Given the description of an element on the screen output the (x, y) to click on. 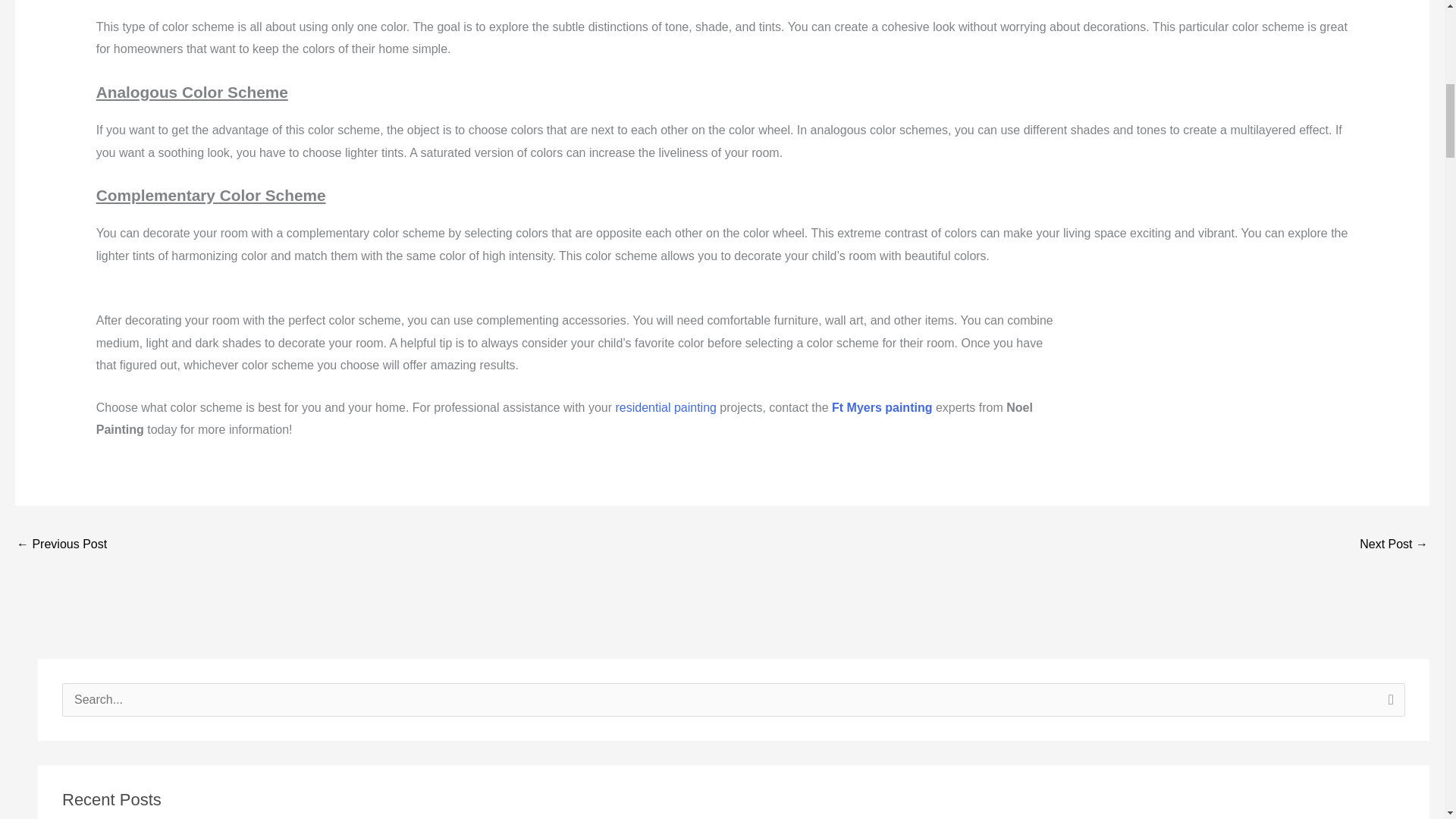
residential painting (665, 407)
Ft Myers painting (881, 407)
How to Combine Paint and Wallpaper in the Same Room (61, 545)
